Given the description of an element on the screen output the (x, y) to click on. 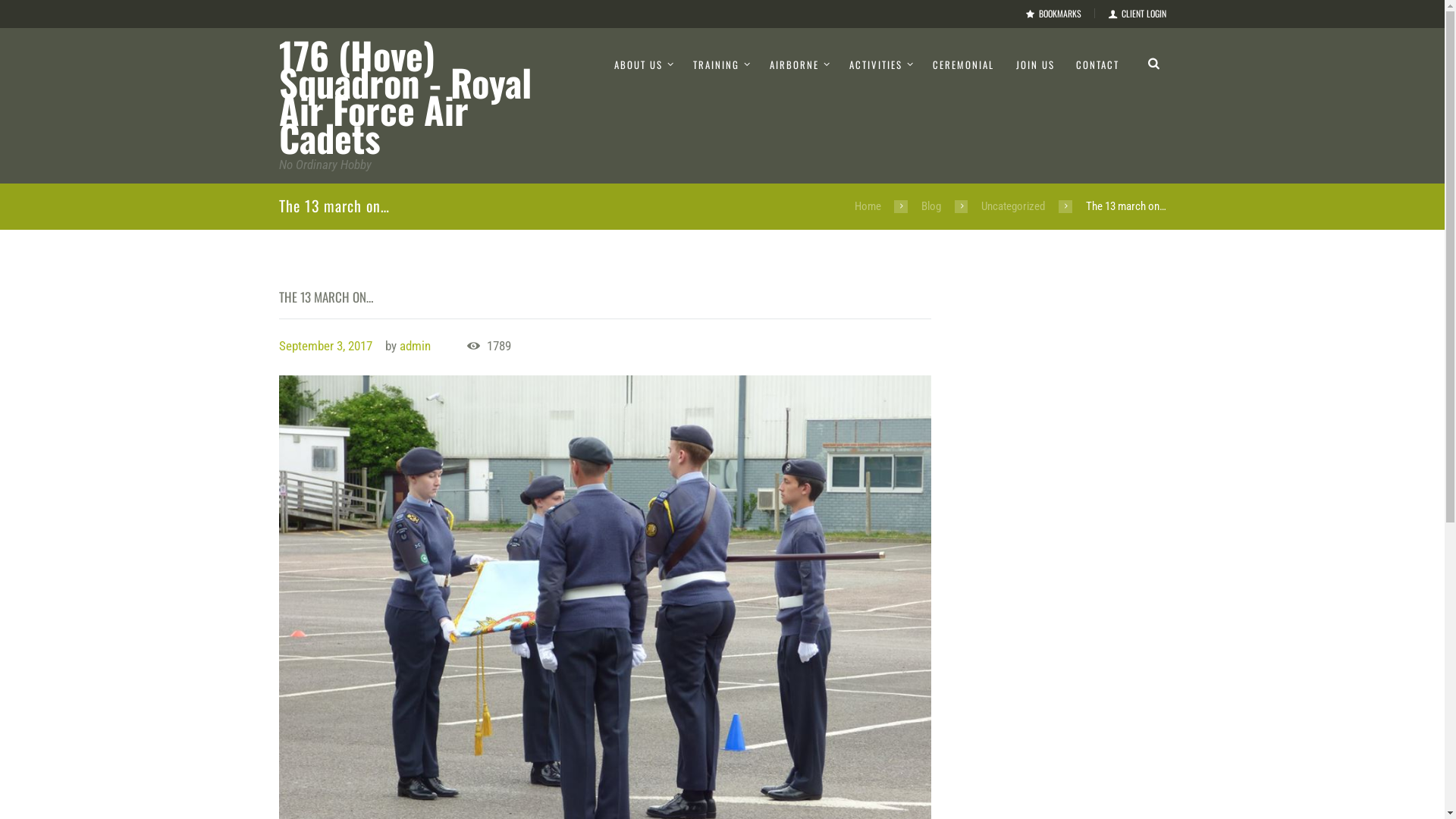
CONTACT Element type: text (1097, 64)
Uncategorized Element type: text (1012, 205)
CEREMONIAL Element type: text (963, 64)
September 3, 2017 Element type: text (325, 345)
JOIN US Element type: text (1034, 64)
CLIENT LOGIN Element type: text (1137, 14)
Search Element type: hover (1170, 61)
Open search Element type: hover (1153, 62)
Blog Element type: text (931, 205)
admin Element type: text (414, 345)
Home Element type: text (867, 205)
BOOKMARKS Element type: text (1053, 14)
AIRBORNE Element type: text (798, 64)
TRAINING Element type: text (720, 64)
ACTIVITIES Element type: text (880, 64)
ABOUT US Element type: text (642, 64)
